Given the description of an element on the screen output the (x, y) to click on. 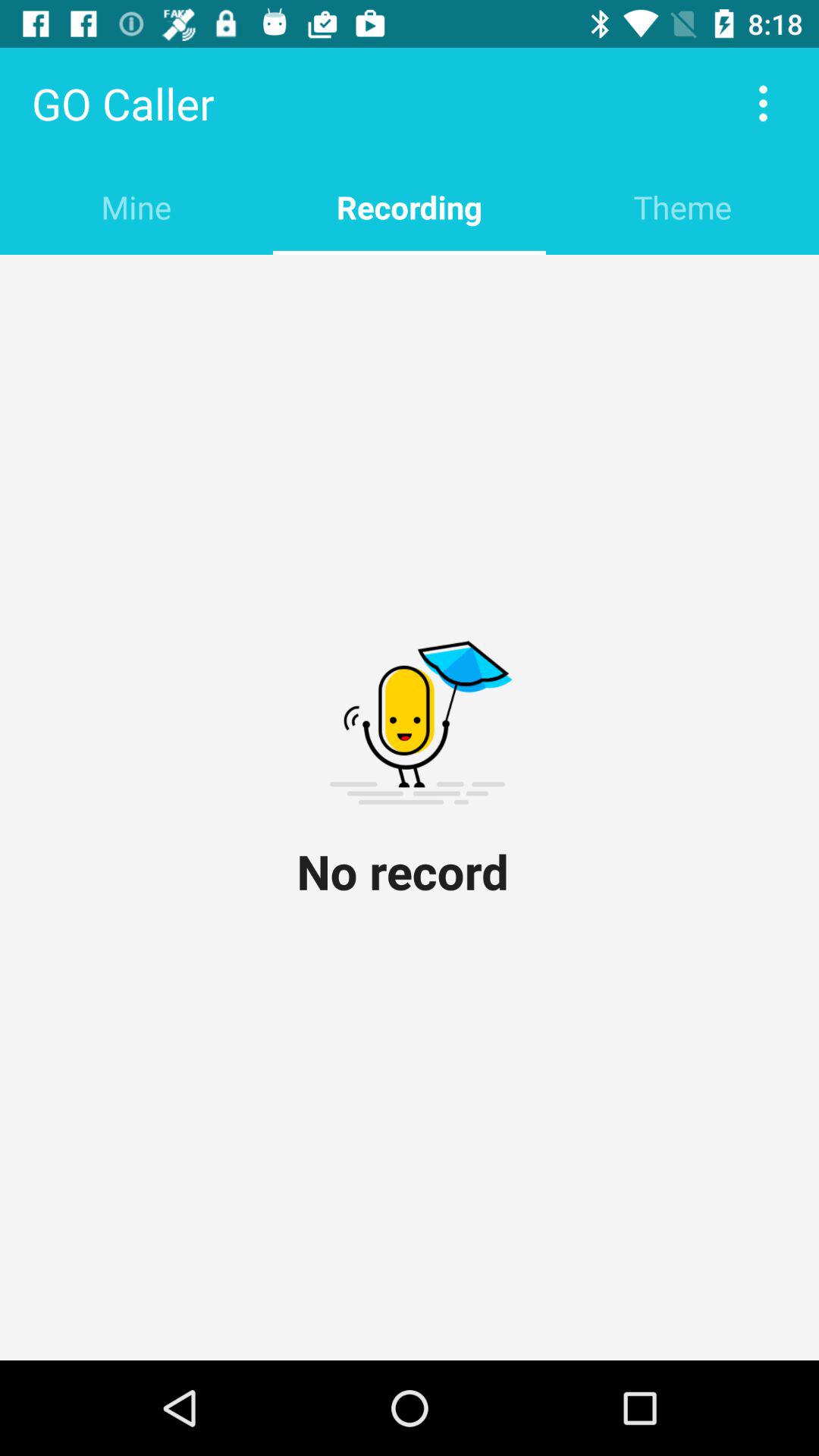
view more options (763, 103)
